Given the description of an element on the screen output the (x, y) to click on. 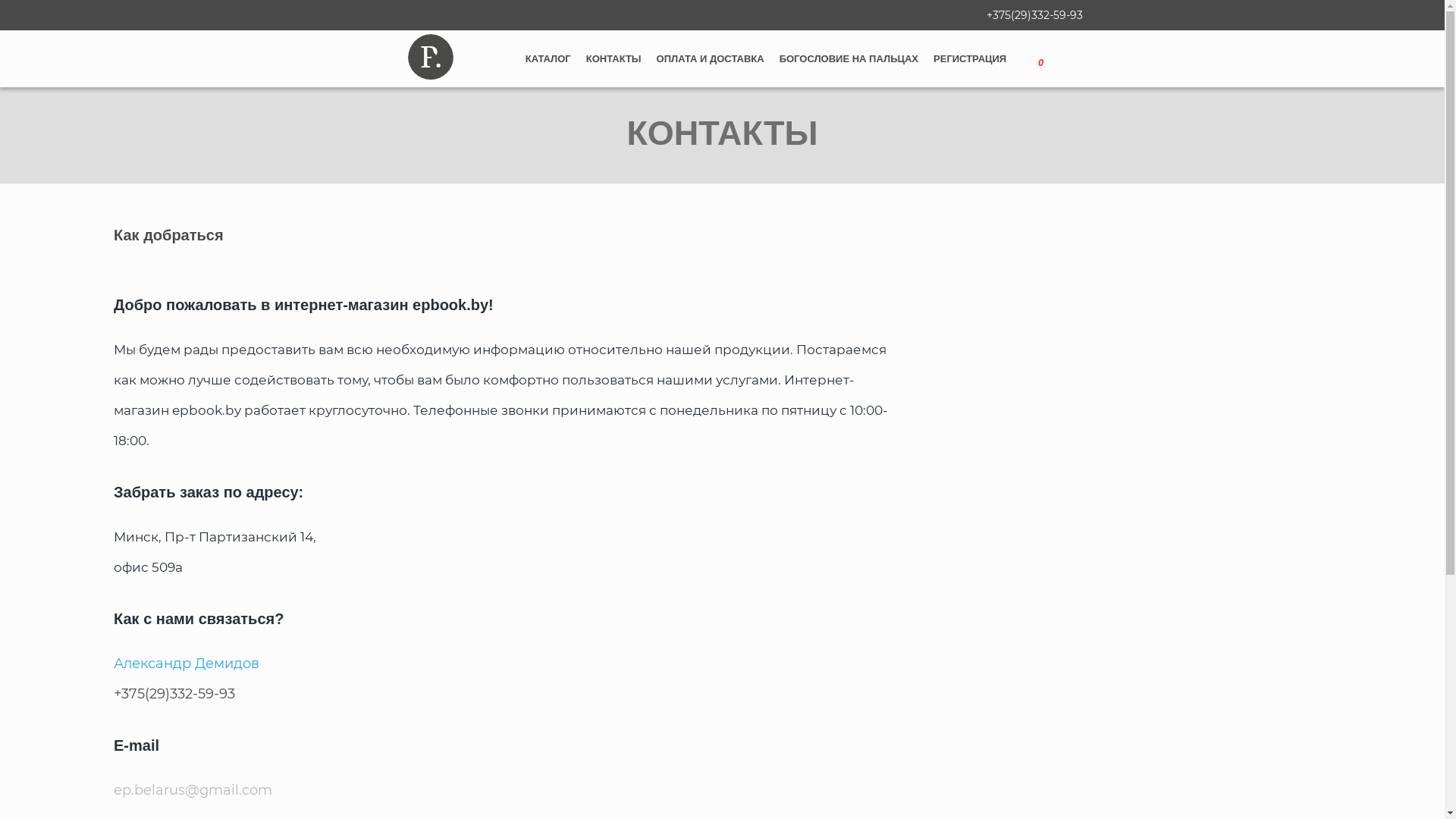
+375(29)332-59-93 Element type: text (1033, 14)
+375(29)332-59-93 Element type: text (174, 693)
